Given the description of an element on the screen output the (x, y) to click on. 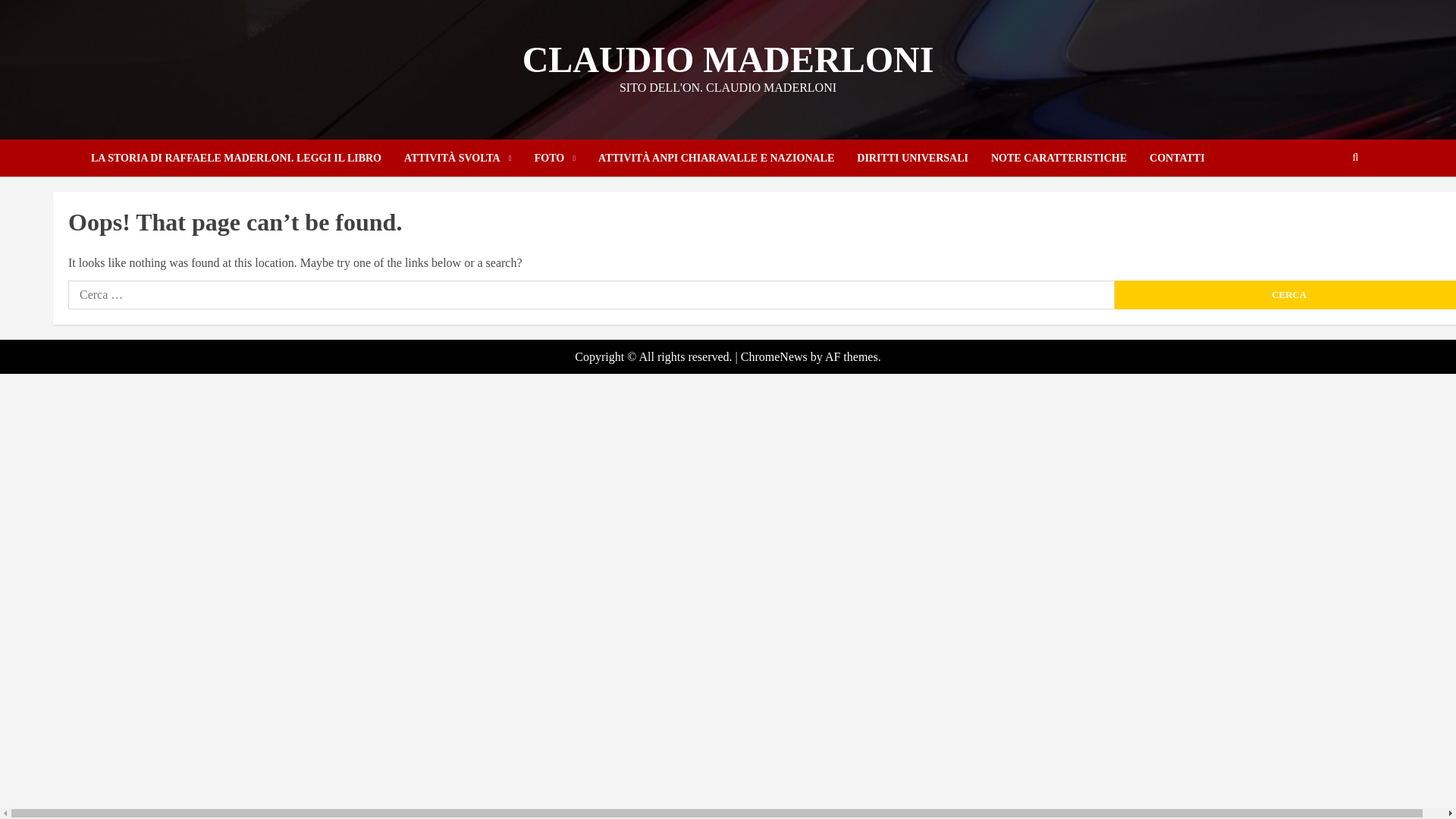
Cerca (1285, 294)
Cerca (1285, 294)
LA STORIA DI RAFFAELE MADERLONI. LEGGI IL LIBRO (247, 157)
ChromeNews (774, 356)
CONTATTI (1177, 157)
CLAUDIO MADERLONI (728, 59)
Cerca (1326, 203)
NOTE CARATTERISTICHE (1070, 157)
DIRITTI UNIVERSALI (924, 157)
FOTO (566, 157)
